Given the description of an element on the screen output the (x, y) to click on. 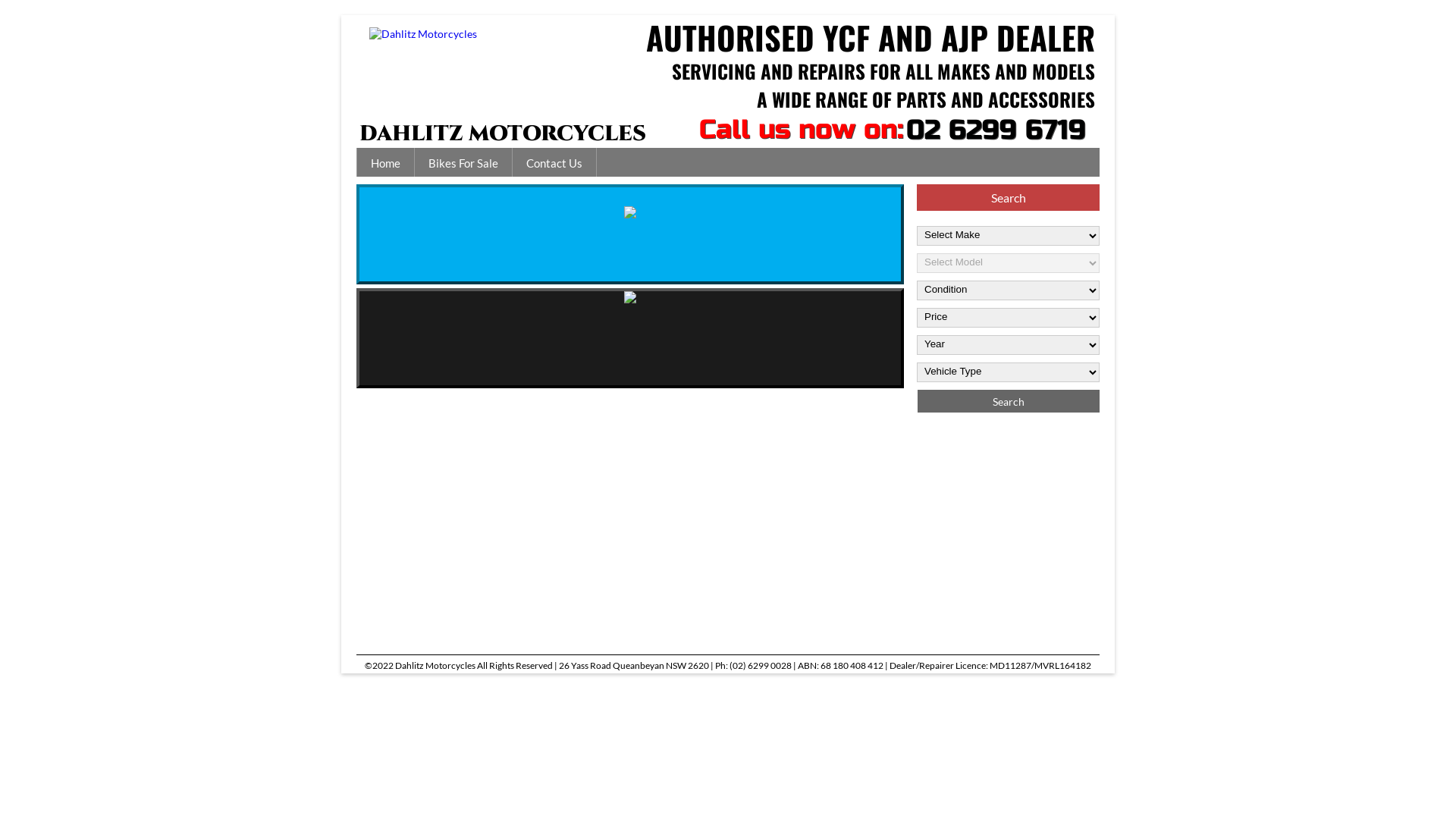
Search Element type: text (1008, 400)
Home Element type: text (385, 161)
Contact Us Element type: text (554, 161)
Bikes For Sale Element type: text (463, 161)
